Given the description of an element on the screen output the (x, y) to click on. 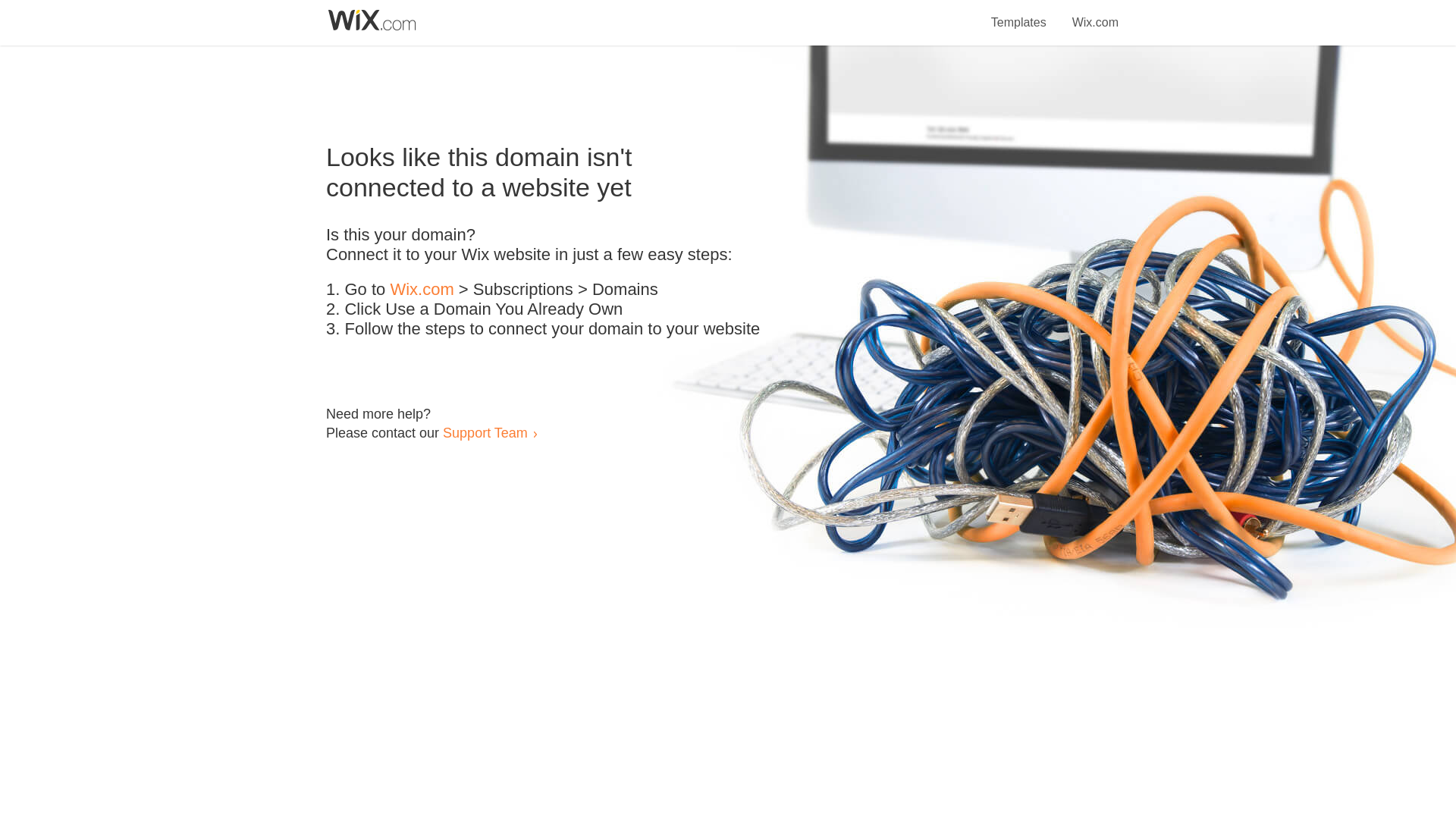
Wix.com (421, 289)
Wix.com (1095, 14)
Support Team (484, 432)
Templates (1018, 14)
